Given the description of an element on the screen output the (x, y) to click on. 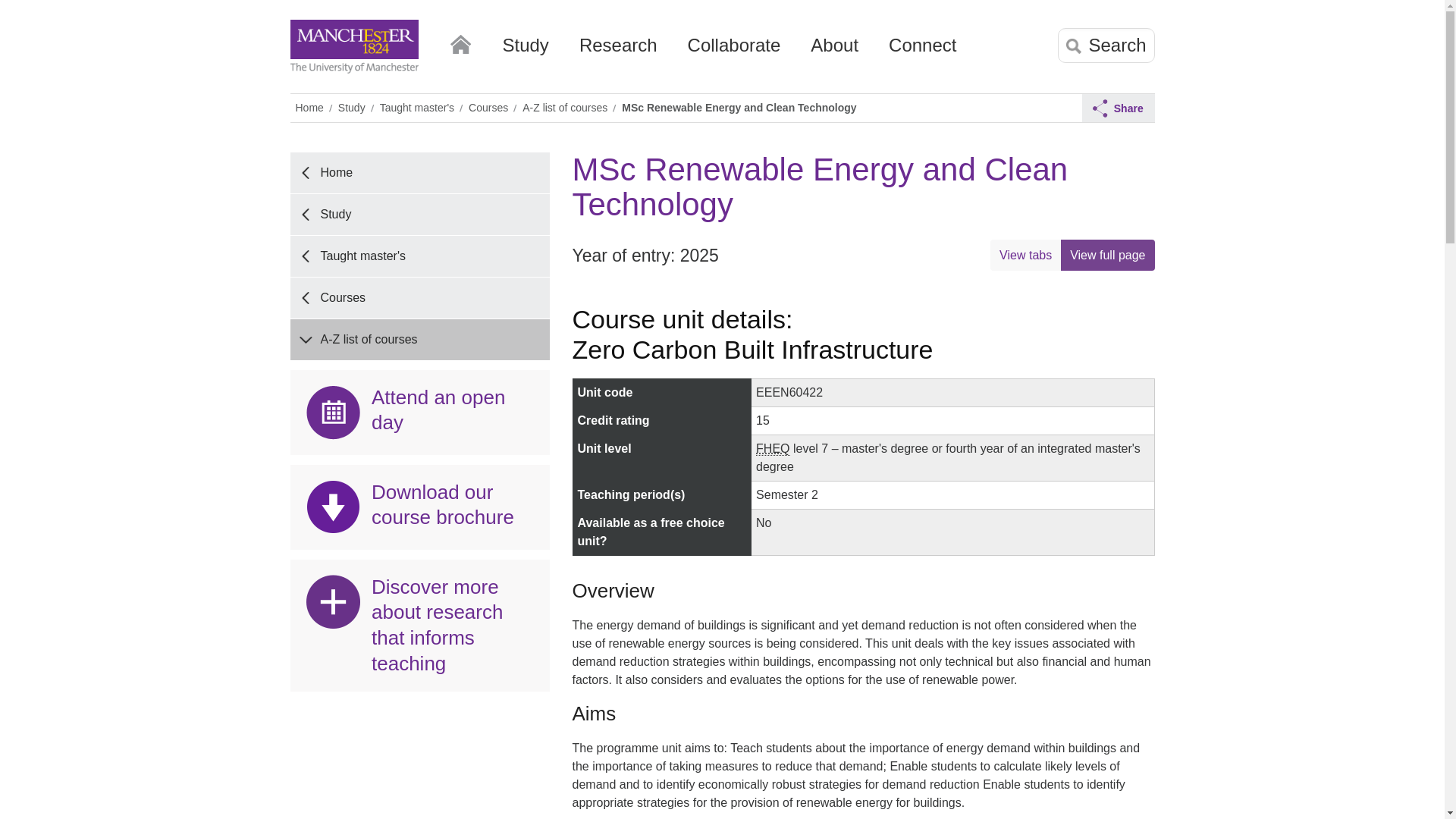
Study (524, 50)
Home (459, 41)
Research at the University (618, 50)
